Given the description of an element on the screen output the (x, y) to click on. 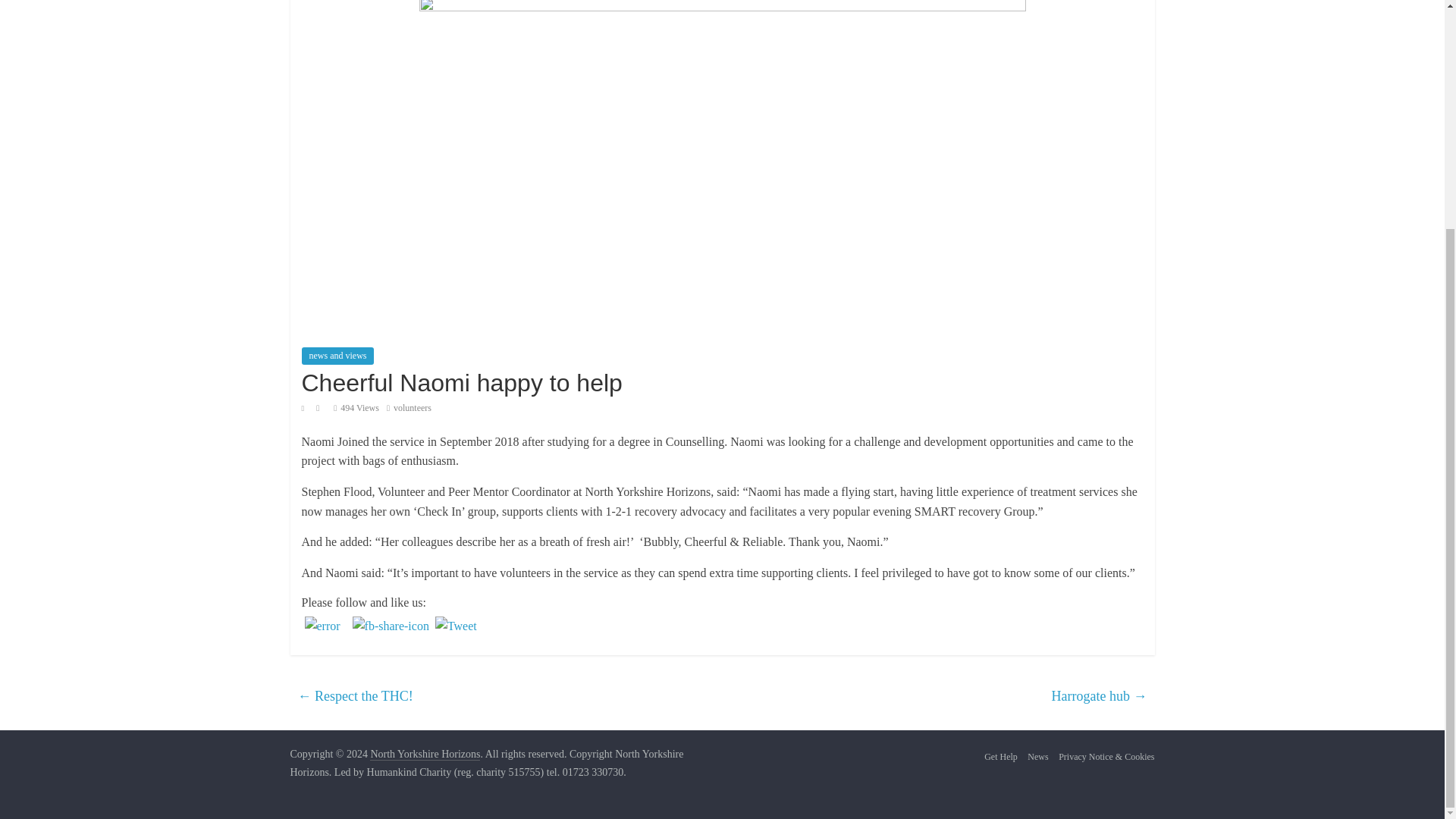
Facebook Share (390, 626)
News (1037, 756)
news and views (337, 355)
volunteers (411, 407)
North Yorkshire Horizons (424, 754)
North Yorkshire Horizons (424, 754)
Get Help (1000, 756)
Tweet (456, 626)
